Given the description of an element on the screen output the (x, y) to click on. 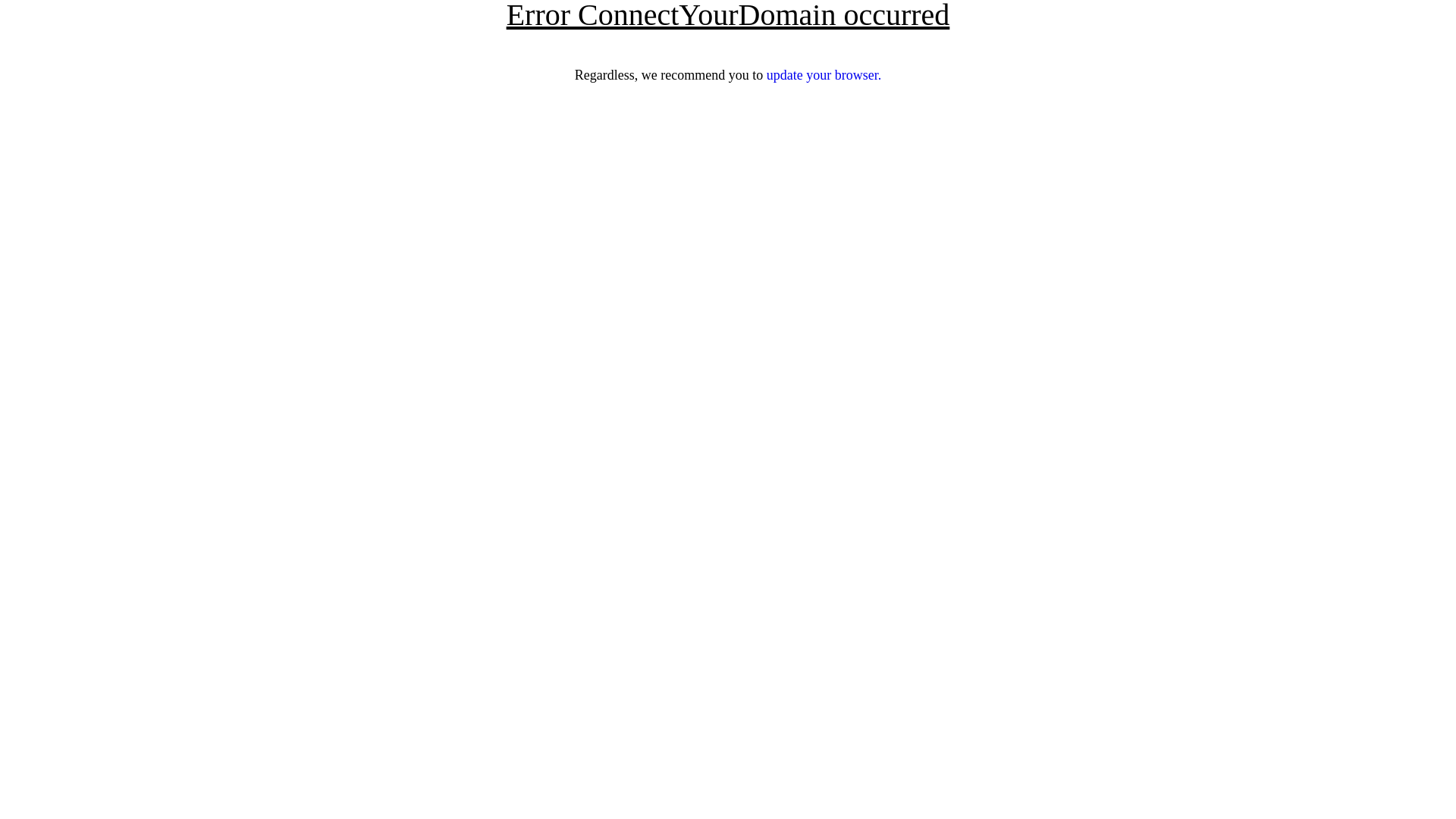
update your browser. Element type: text (823, 74)
